Given the description of an element on the screen output the (x, y) to click on. 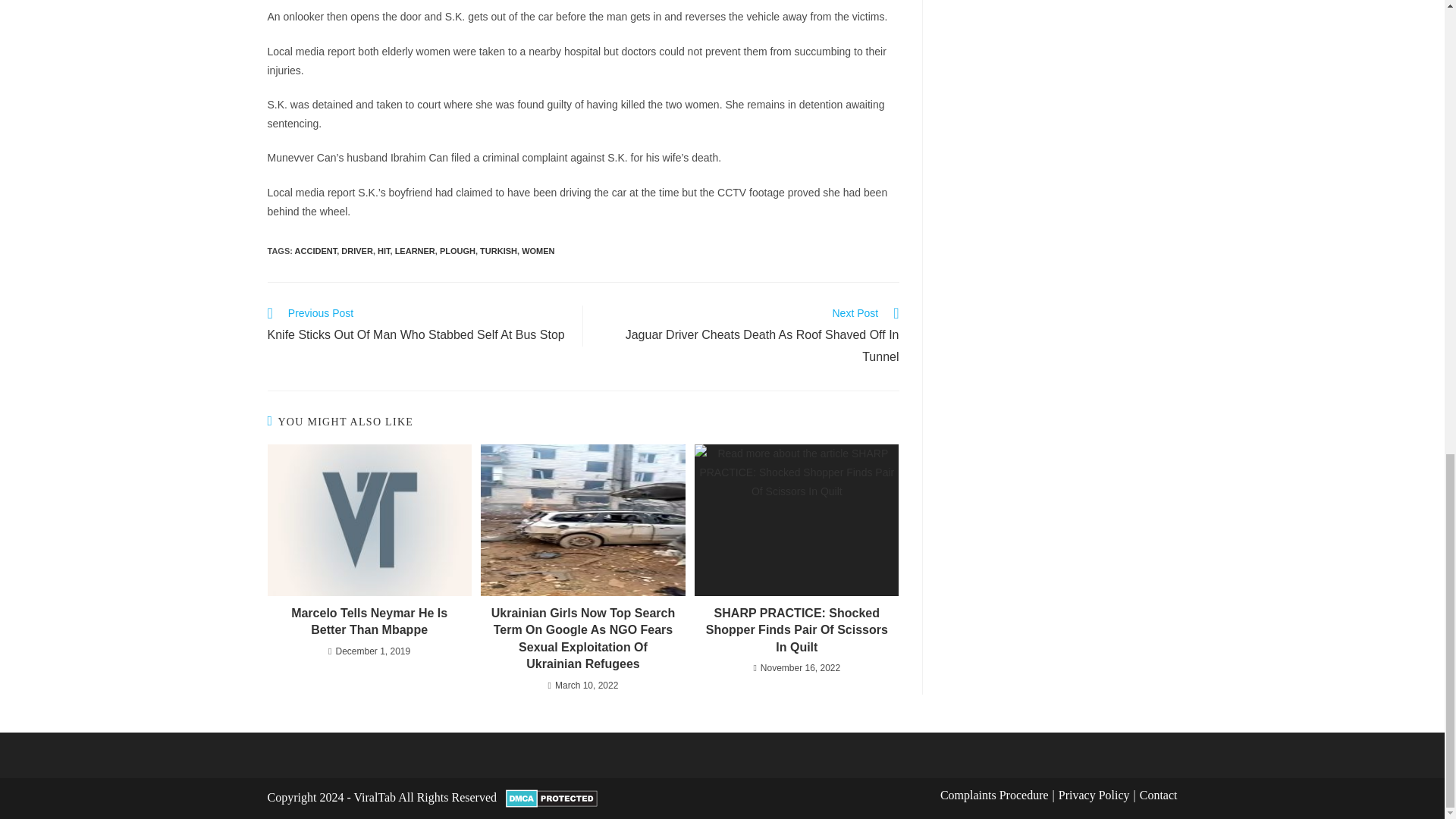
DMCA.com Protection Status (550, 797)
